Given the description of an element on the screen output the (x, y) to click on. 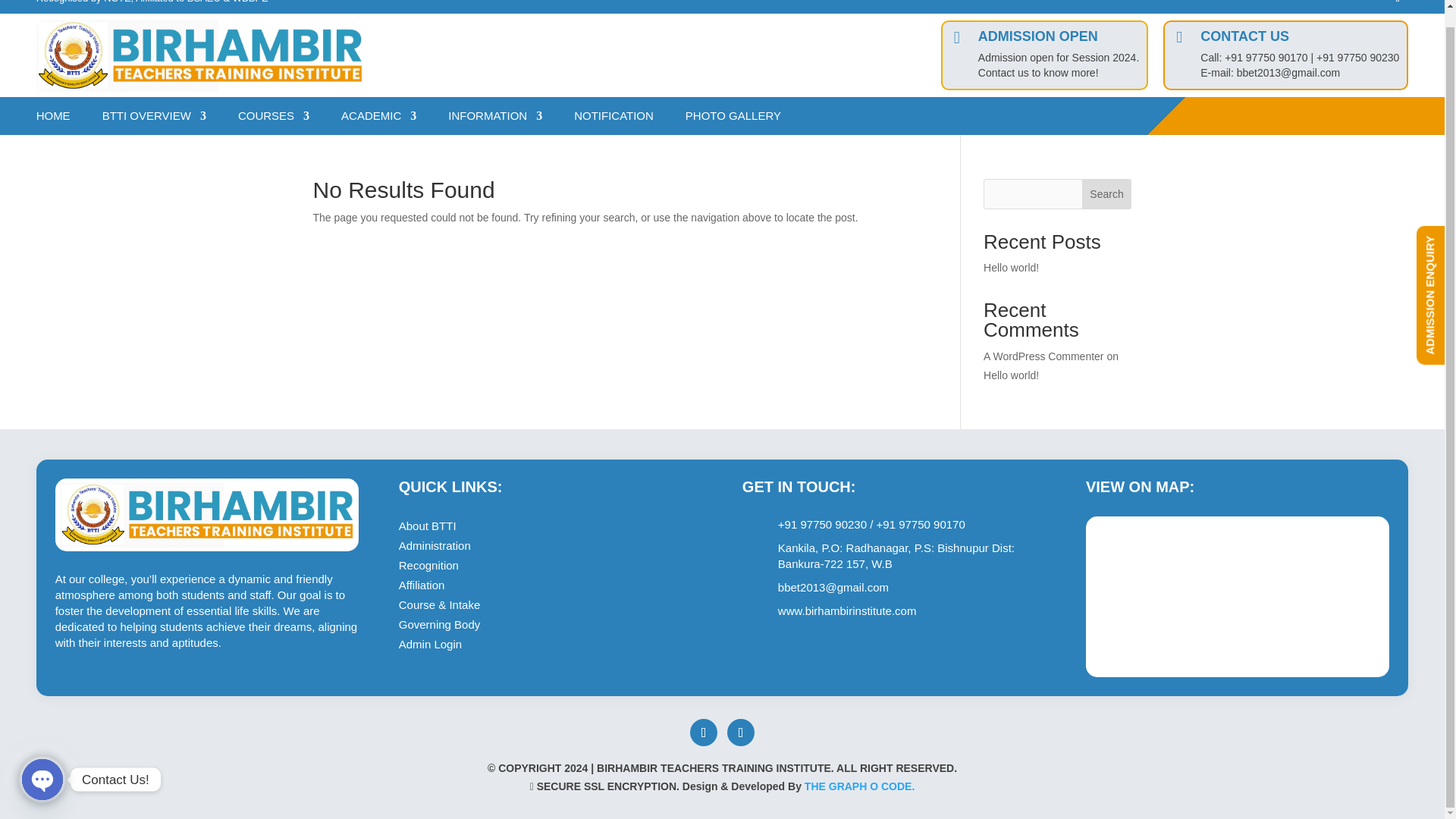
BTTI OVERVIEW (153, 118)
INFORMATION (494, 118)
NOTIFICATION (613, 118)
ACADEMIC (378, 118)
COURSES (273, 118)
Follow on Facebook (1397, 4)
PHOTO GALLERY (732, 118)
Follow on WhatsApp (740, 732)
Follow on Facebook (703, 732)
HOME (52, 118)
